Given the description of an element on the screen output the (x, y) to click on. 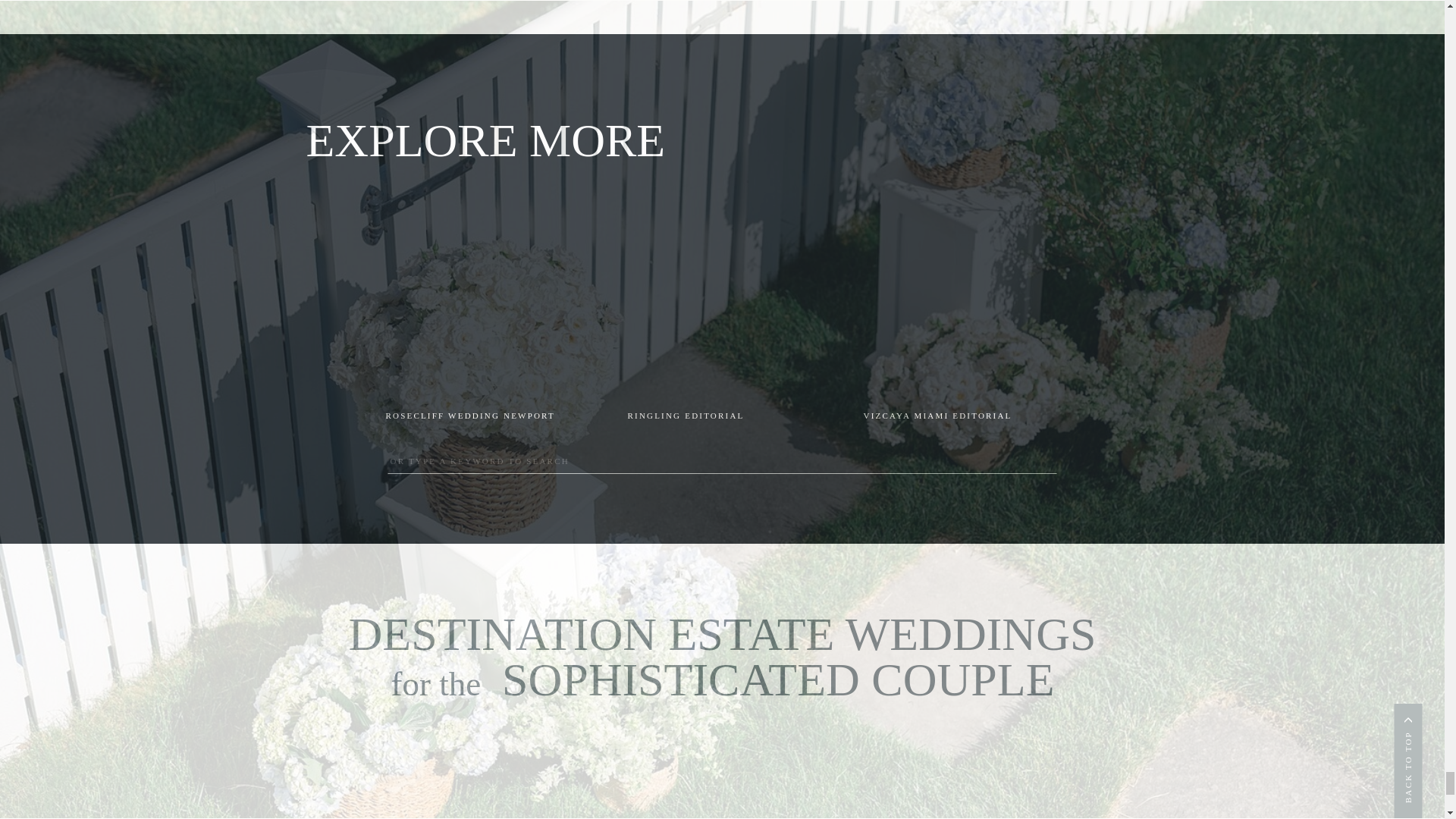
ROSECLIFF WEDDING NEWPORT (481, 417)
VIZCAYA MIAMI EDITORIAL (959, 417)
RINGLING EDITORIAL (724, 417)
